Given the description of an element on the screen output the (x, y) to click on. 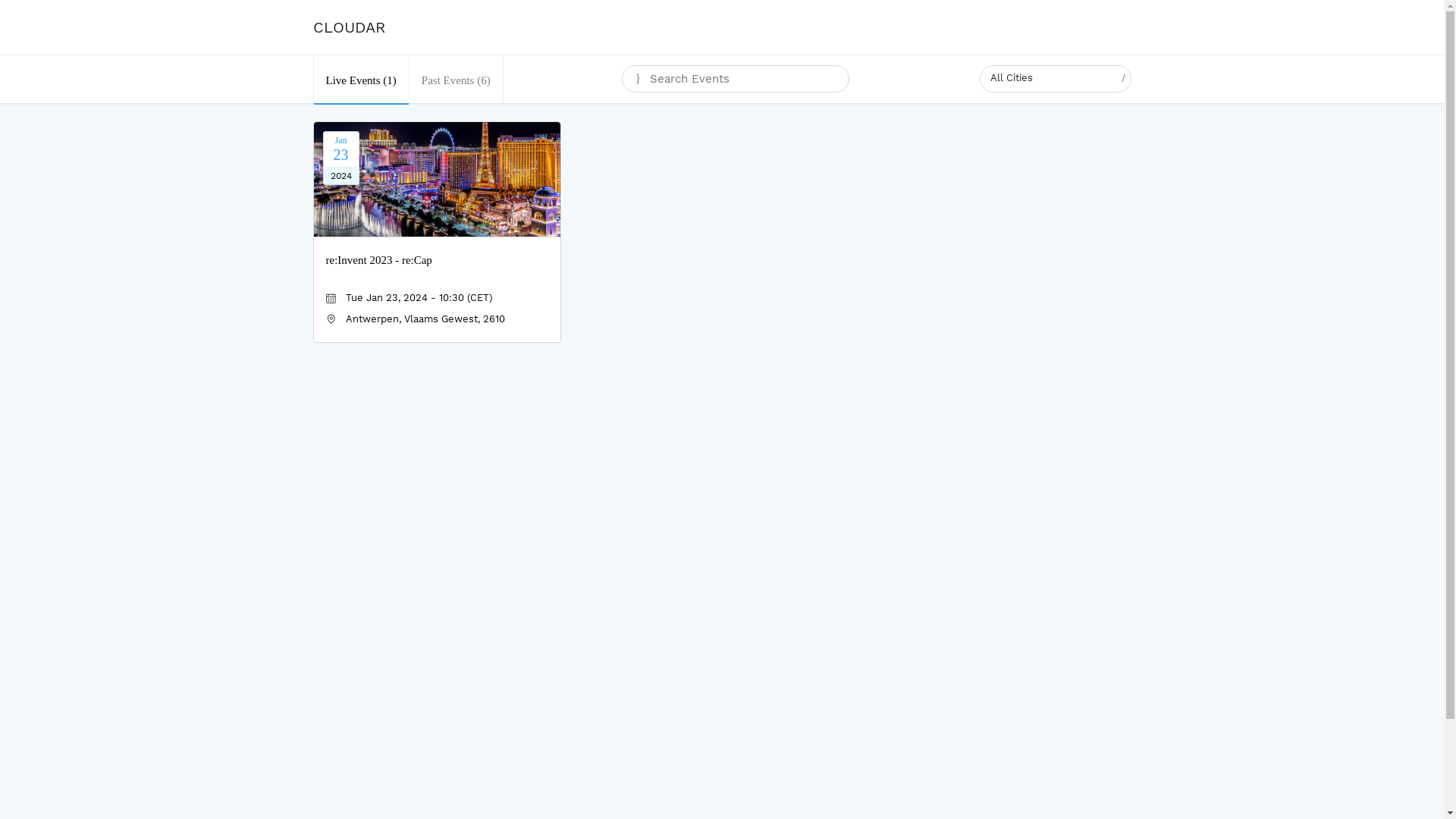
Past Events (6) Element type: text (456, 78)
Live Events (1) Element type: text (360, 78)
